Given the description of an element on the screen output the (x, y) to click on. 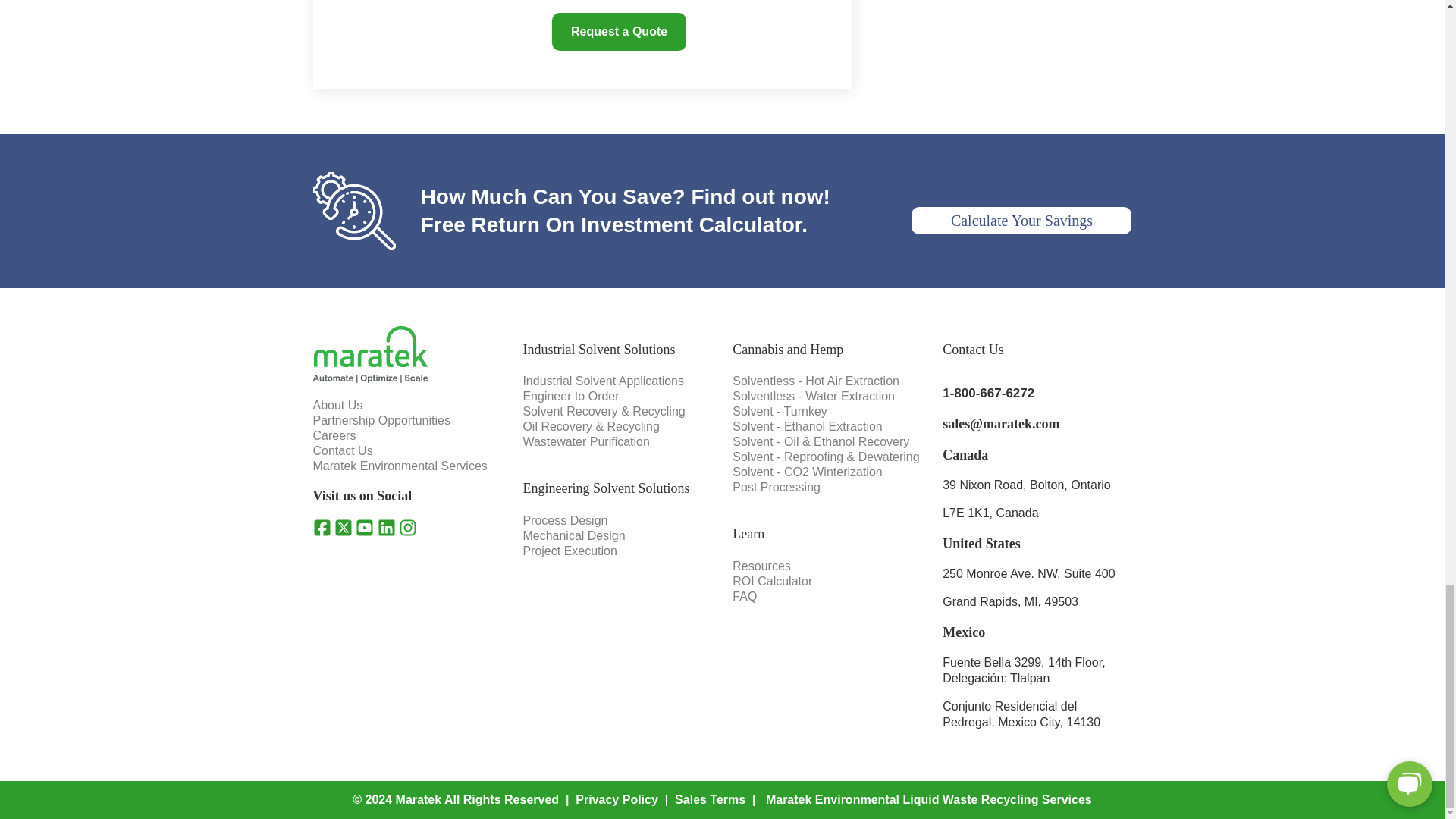
MaratekEquipmentLogo (369, 354)
Request a Quote (618, 31)
